Given the description of an element on the screen output the (x, y) to click on. 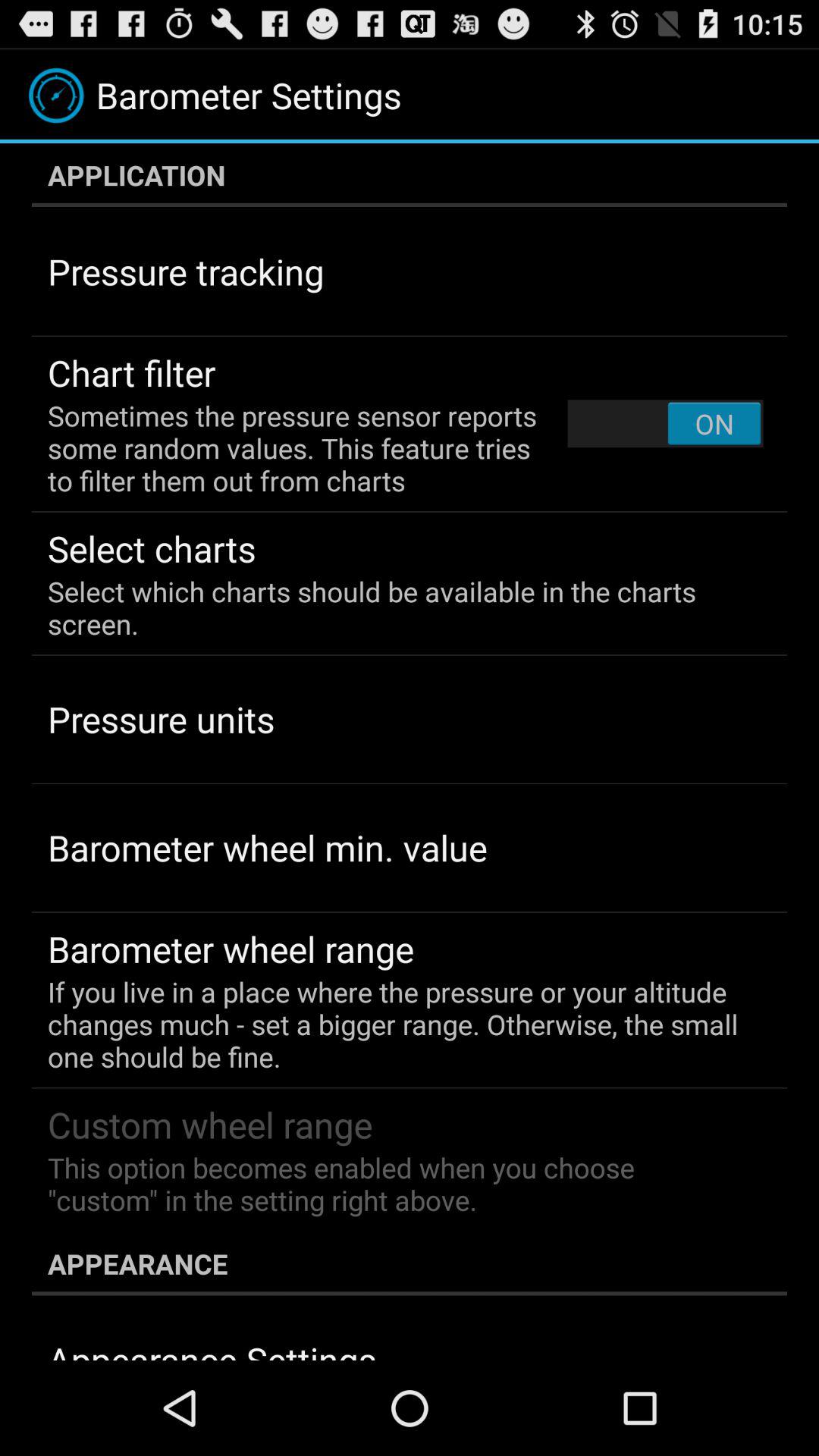
swipe until the application (409, 175)
